Given the description of an element on the screen output the (x, y) to click on. 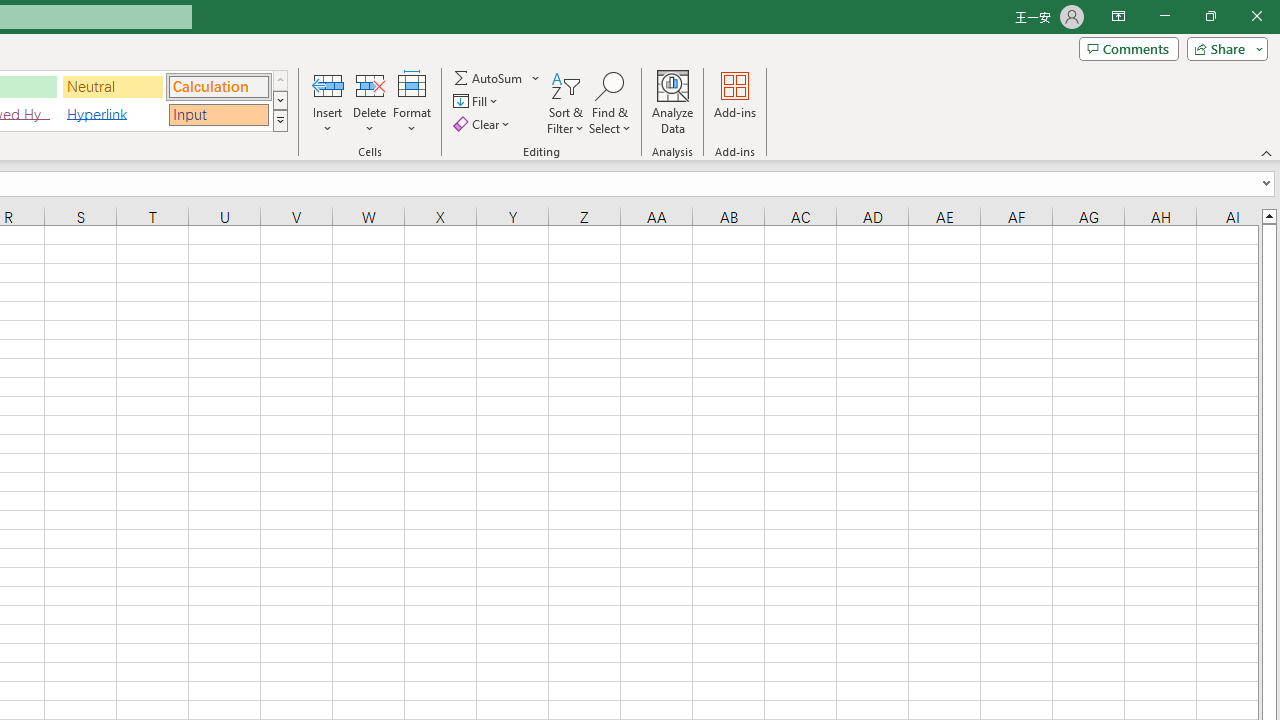
Fill (477, 101)
